Given the description of an element on the screen output the (x, y) to click on. 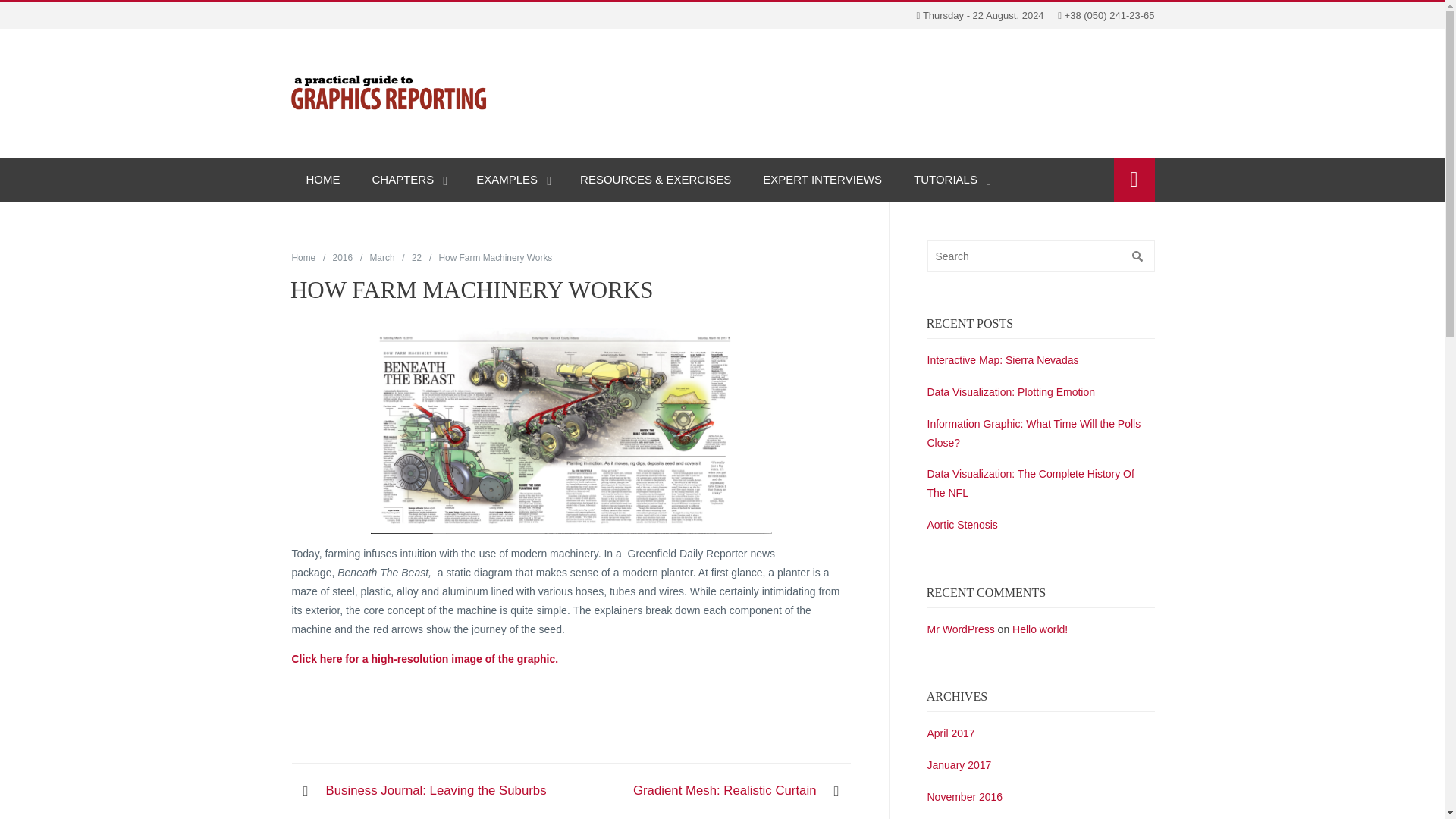
2016 (342, 257)
Next (724, 791)
Information Graphic: What Time Will the Polls Close? (1033, 432)
Home (303, 257)
Click here for a high-resolution image of the graphic.  (425, 658)
March 22, 2016 (417, 257)
EXPERT INTERVIEWS (822, 180)
Previous (436, 791)
2016 (342, 257)
Interactive Map: Sierra Nevadas (1002, 359)
